Given the description of an element on the screen output the (x, y) to click on. 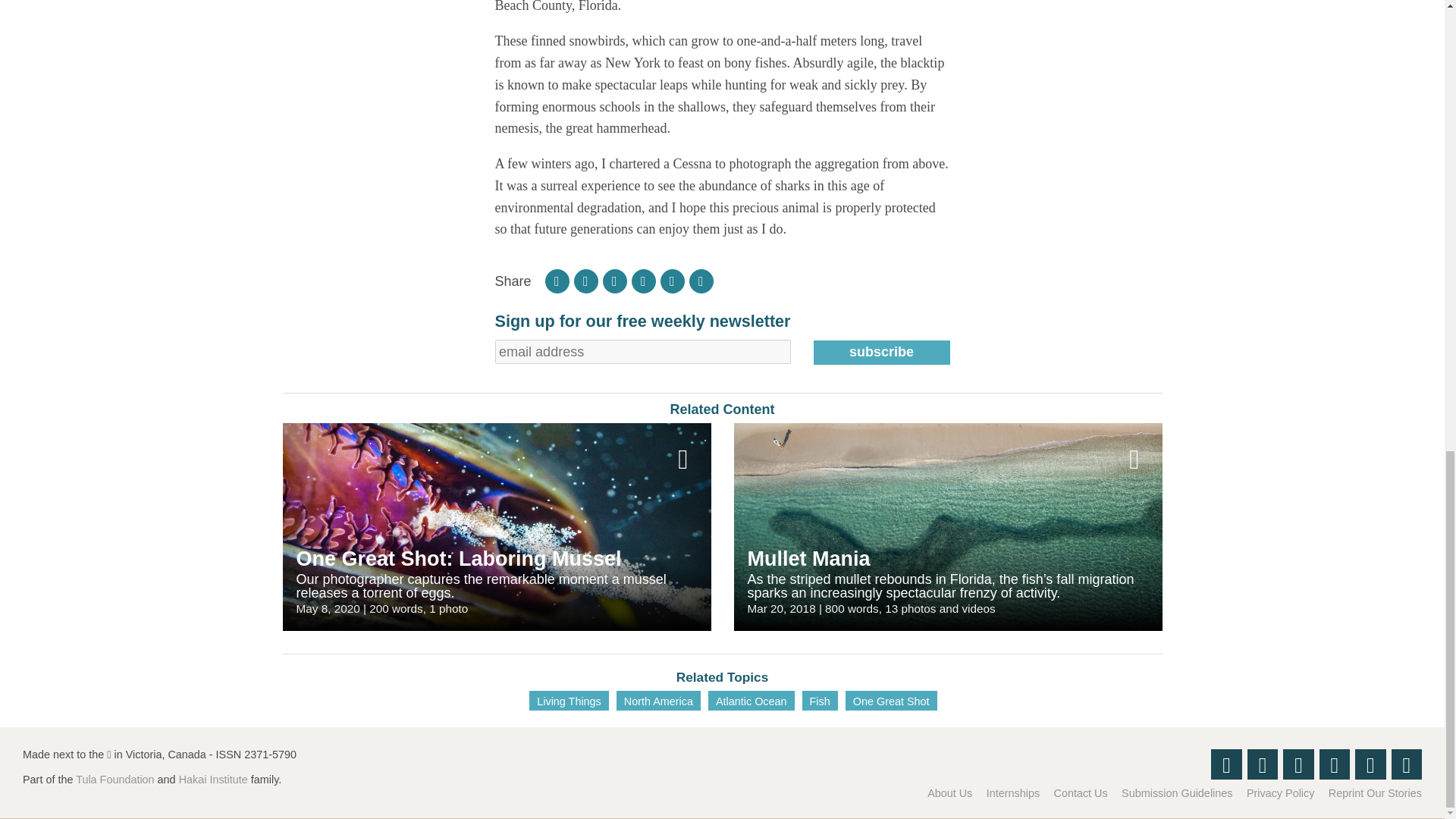
Share by Email (700, 281)
Share on Pocket (643, 281)
Share on Flipboard (556, 281)
Share on Twitter (614, 281)
Share on Mastodon (672, 281)
Share on Facebook (585, 281)
